Given the description of an element on the screen output the (x, y) to click on. 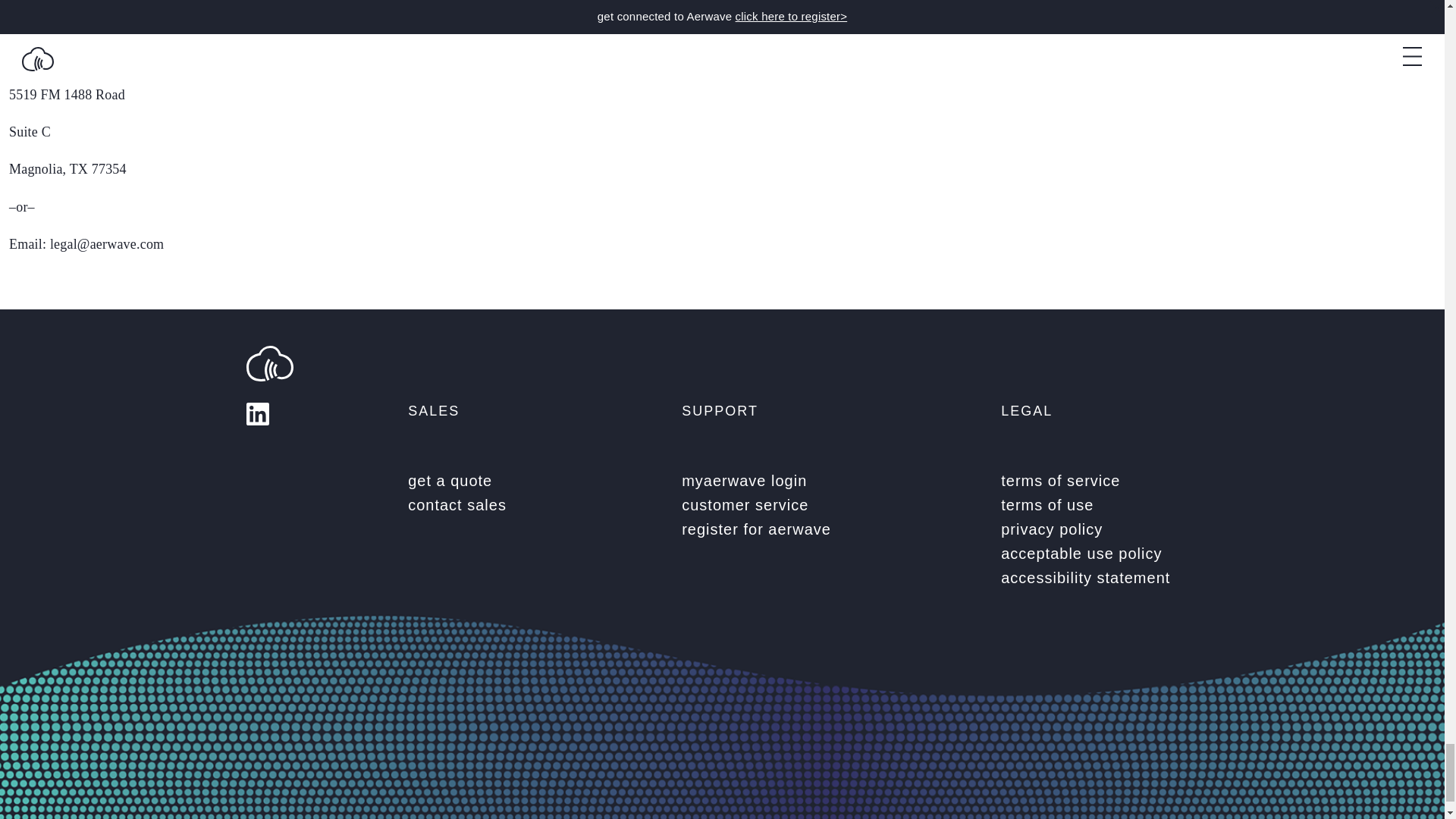
terms of use (1099, 504)
terms of service (1099, 480)
register for aerwave (756, 528)
LinkedIn (257, 413)
contact sales (519, 504)
privacy policy (1099, 528)
get a quote (519, 480)
acceptable use policy (1099, 553)
myaerwave login (798, 480)
customer service (798, 504)
